Given the description of an element on the screen output the (x, y) to click on. 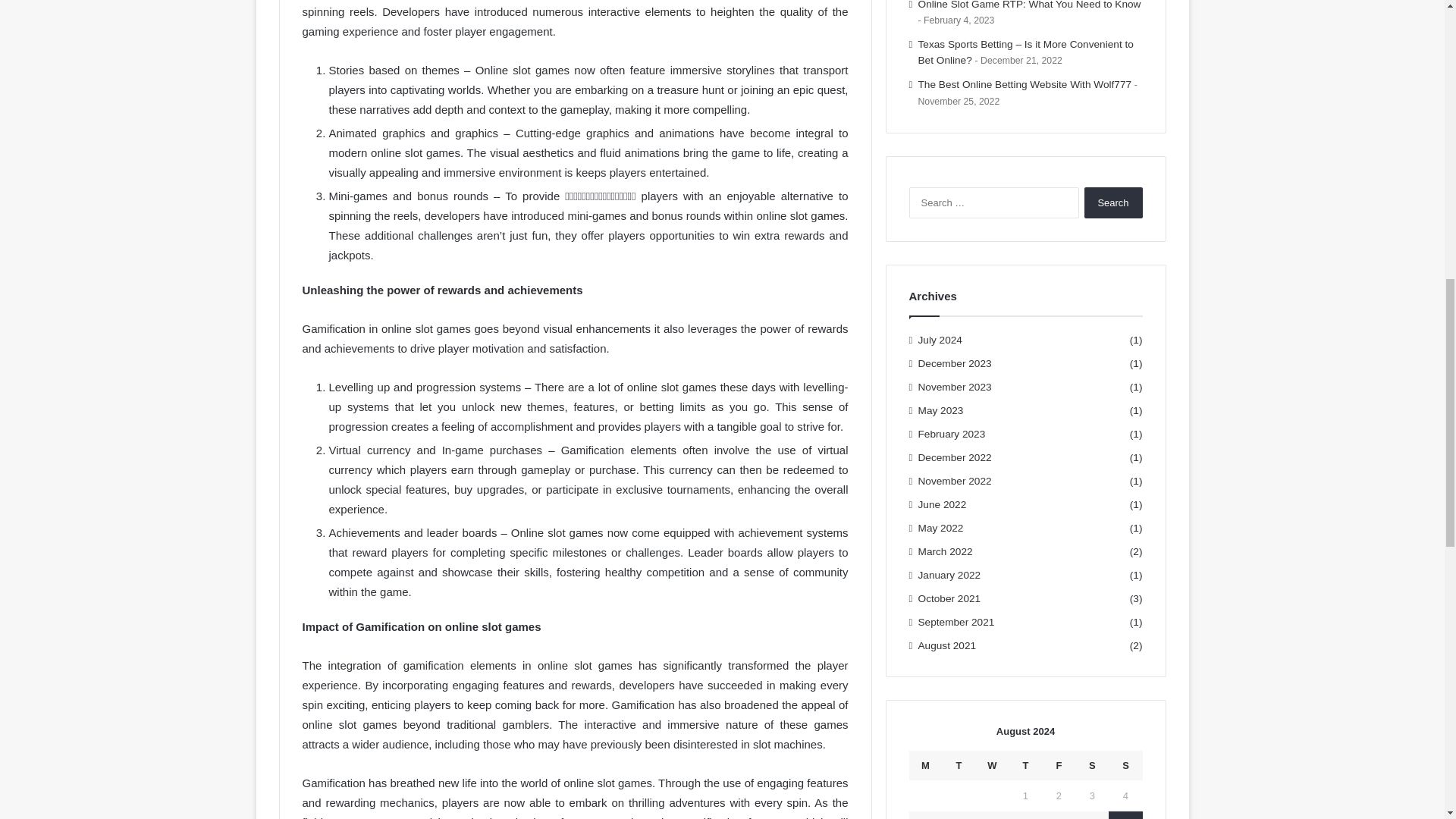
Wednesday (992, 765)
Monday (925, 765)
Search (1113, 202)
Thursday (1025, 765)
Sunday (1124, 765)
Friday (1058, 765)
Saturday (1091, 765)
Search (1113, 202)
Tuesday (958, 765)
